Given the description of an element on the screen output the (x, y) to click on. 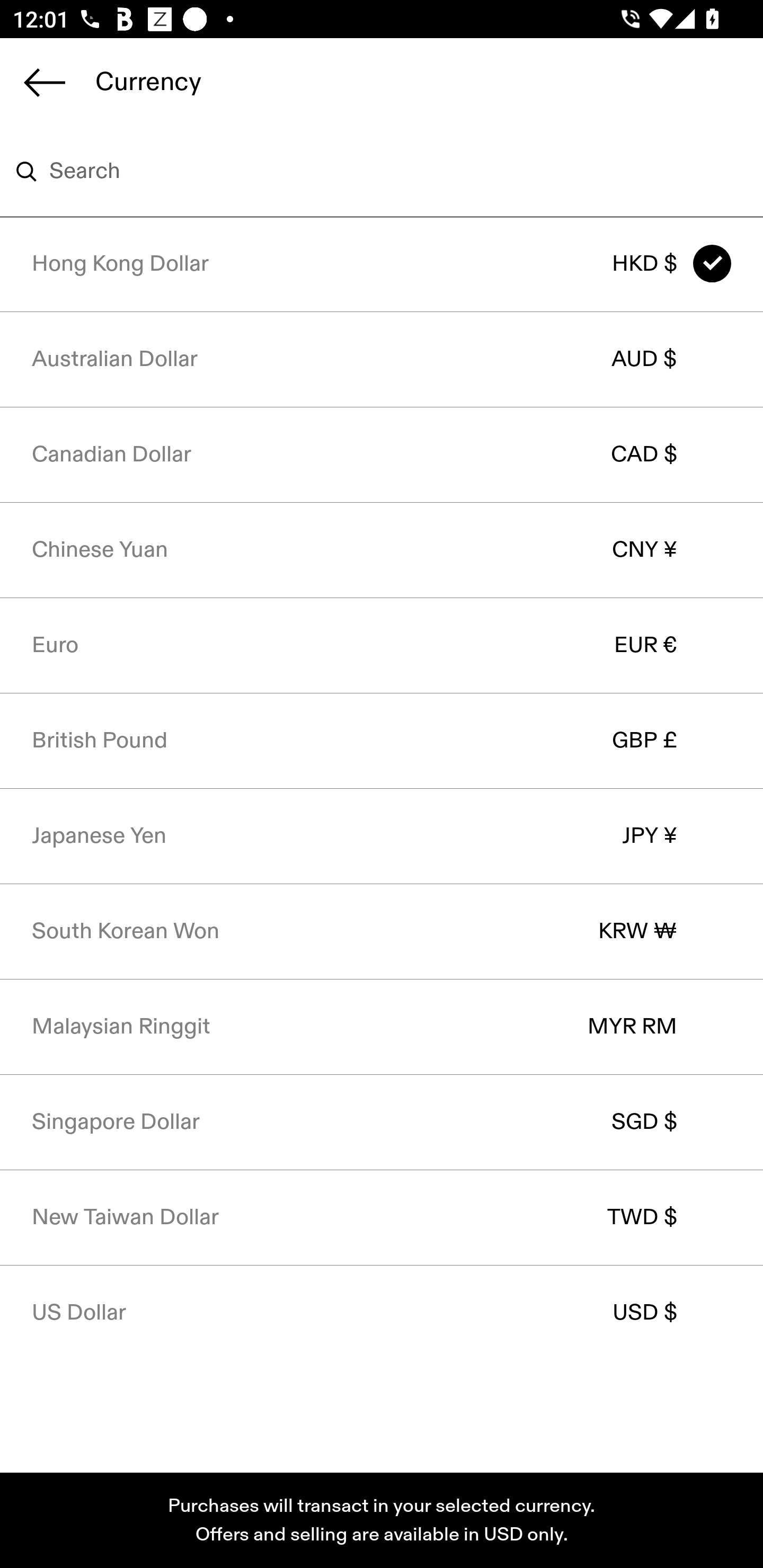
Navigate up (44, 82)
Search (355, 171)
Hong Kong Dollar HKD $ (381, 264)
Australian Dollar AUD $ (381, 359)
Canadian Dollar CAD $ (381, 453)
Chinese Yuan CNY ¥ (381, 549)
Euro EUR € (381, 645)
British Pound GBP £ (381, 740)
Japanese Yen JPY ¥ (381, 836)
South Korean Won KRW ₩ (381, 931)
Malaysian Ringgit MYR RM (381, 1026)
Singapore Dollar SGD $ (381, 1121)
New Taiwan Dollar TWD $ (381, 1217)
US Dollar USD $ (381, 1313)
